Given the description of an element on the screen output the (x, y) to click on. 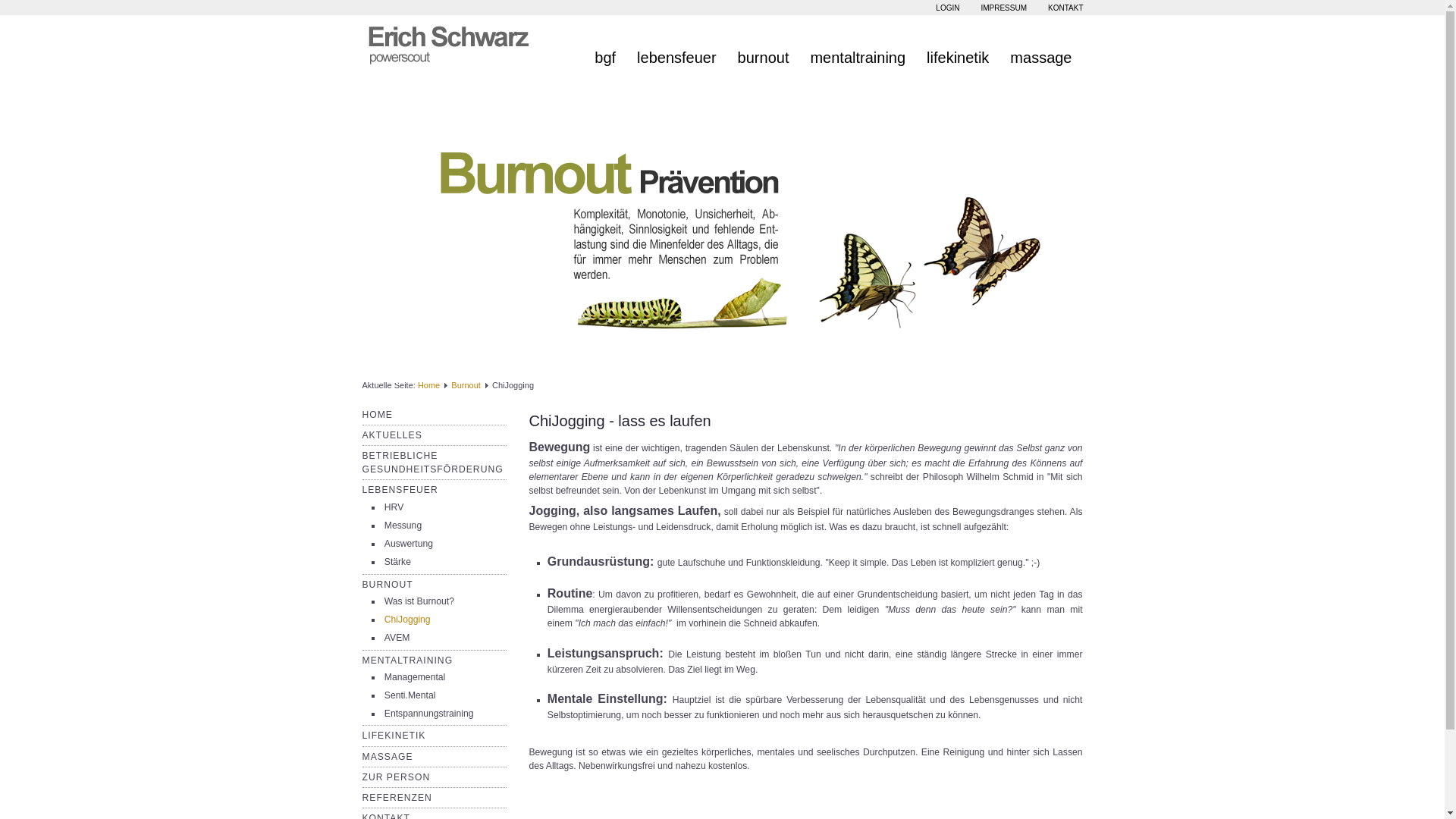
LIFEKINETIK Element type: text (394, 735)
lebensfeuer Element type: text (676, 49)
mentaltraining Element type: text (857, 49)
ZUR PERSON Element type: text (396, 776)
Messung Element type: text (402, 525)
bgf Element type: text (604, 49)
AKTUELLES Element type: text (392, 434)
AVEM Element type: text (397, 637)
Entspannungstraining Element type: text (428, 713)
massage Element type: text (1040, 49)
KONTAKT Element type: text (1065, 7)
lifekinetik Element type: text (957, 49)
Home Element type: text (428, 384)
Auswertung Element type: text (408, 543)
MASSAGE Element type: text (387, 756)
REFERENZEN Element type: text (397, 797)
HOME Element type: text (377, 414)
Was ist Burnout? Element type: text (419, 601)
HRV Element type: text (393, 507)
LEBENSFEUER Element type: text (400, 489)
MENTALTRAINING Element type: text (407, 660)
Burnout Element type: text (465, 384)
BURNOUT Element type: text (387, 584)
ChiJogging Element type: text (407, 619)
IMPRESSUM Element type: text (1003, 7)
LOGIN Element type: text (947, 7)
Managemental Element type: text (414, 676)
Senti.Mental Element type: text (410, 695)
burnout Element type: text (763, 49)
